Given the description of an element on the screen output the (x, y) to click on. 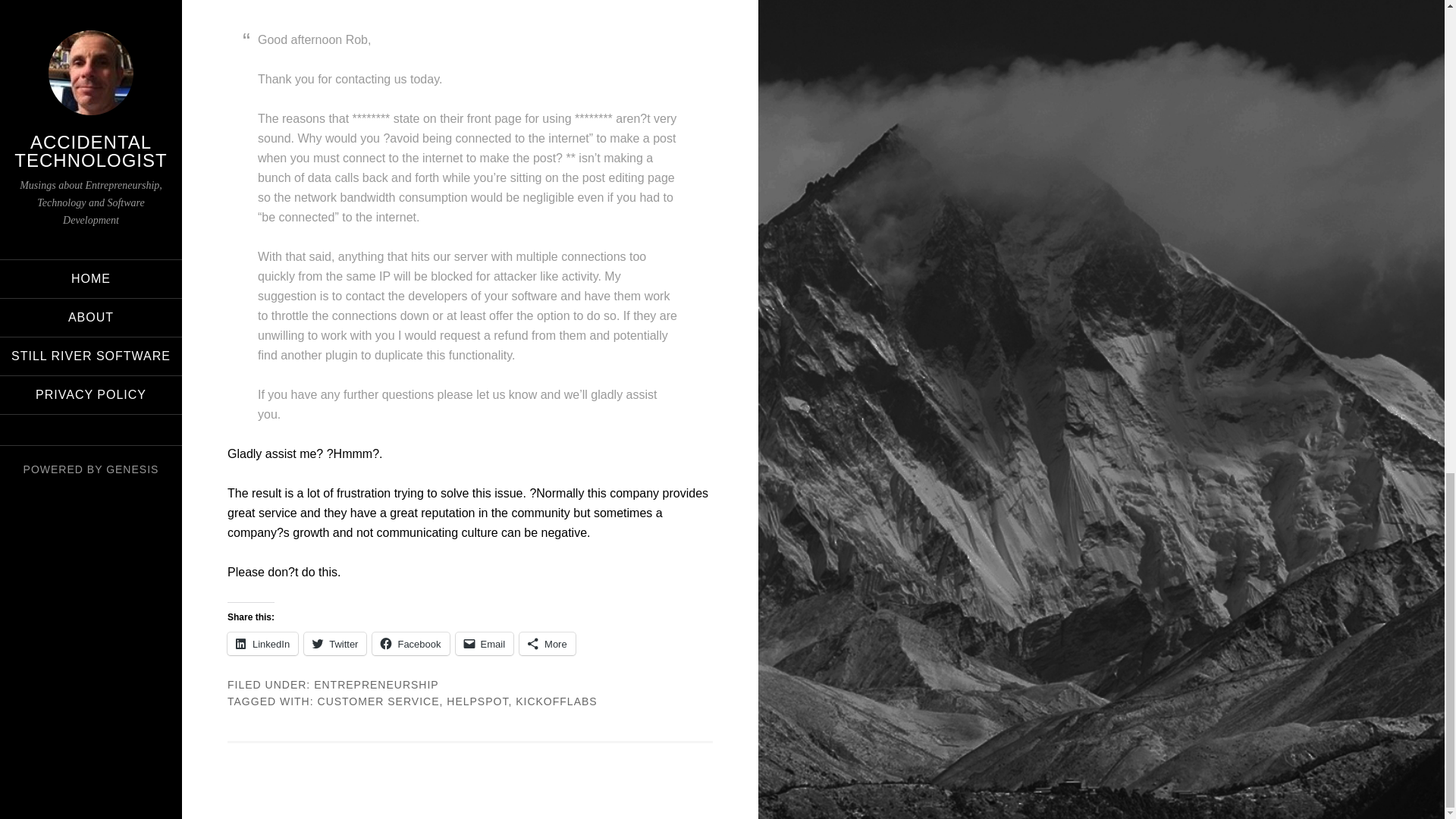
LinkedIn (262, 643)
HELPSPOT (477, 701)
CUSTOMER SERVICE (378, 701)
Facebook (410, 643)
Email (484, 643)
Click to email a link to a friend (484, 643)
Twitter (335, 643)
Click to share on LinkedIn (262, 643)
KICKOFFLABS (555, 701)
Click to share on Facebook (410, 643)
Click to share on Twitter (335, 643)
More (547, 643)
ENTREPRENEURSHIP (376, 684)
